Given the description of an element on the screen output the (x, y) to click on. 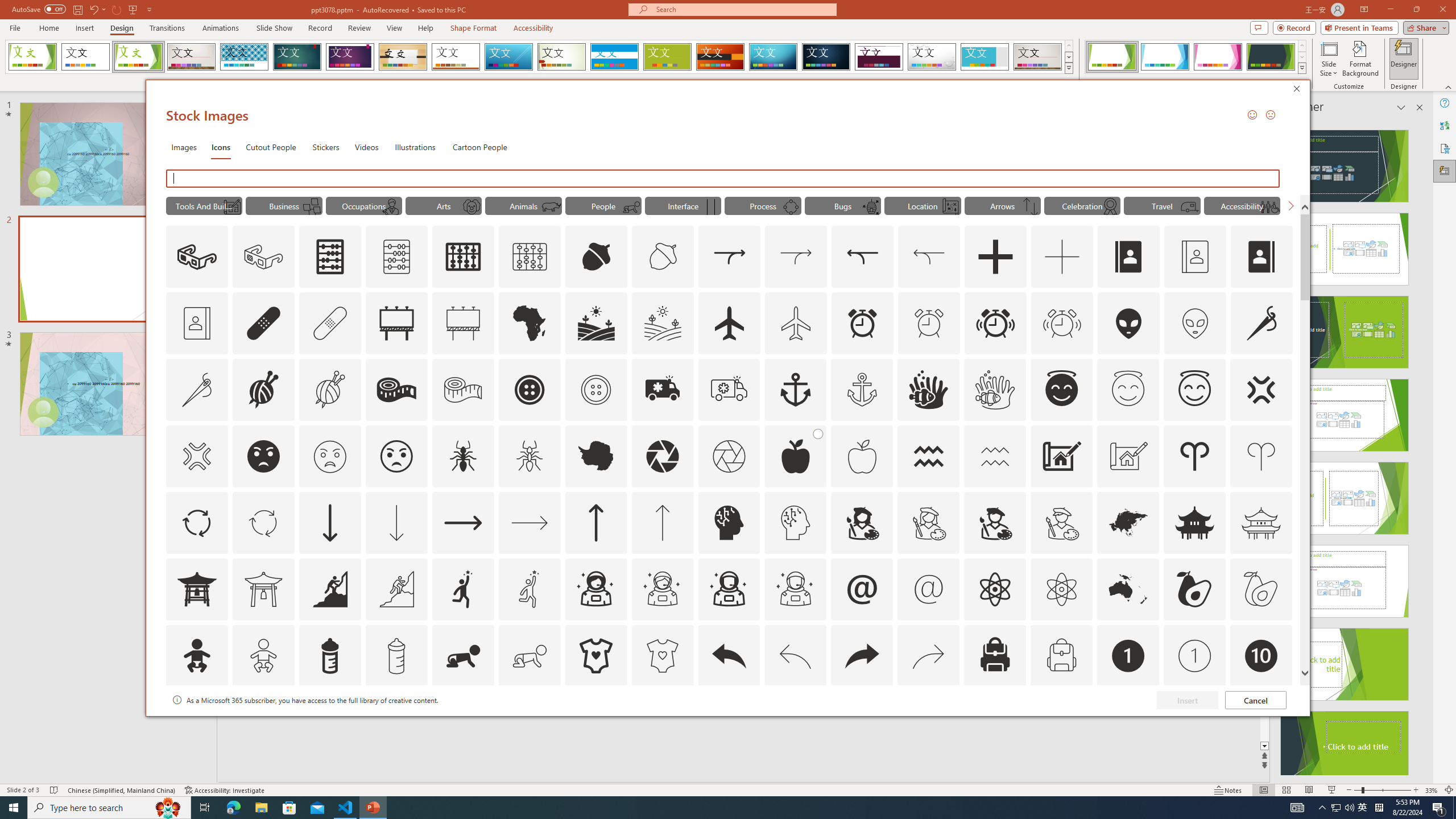
AutomationID: Icons_AddressBook_RTL_M (197, 323)
AutomationID: Icons_Anchor (795, 389)
"Business" Icons. (283, 205)
AutomationID: Icons_Abacus (330, 256)
Facet Variant 2 (1164, 56)
AutomationID: Icons_Badge9_M (1260, 721)
